Given the description of an element on the screen output the (x, y) to click on. 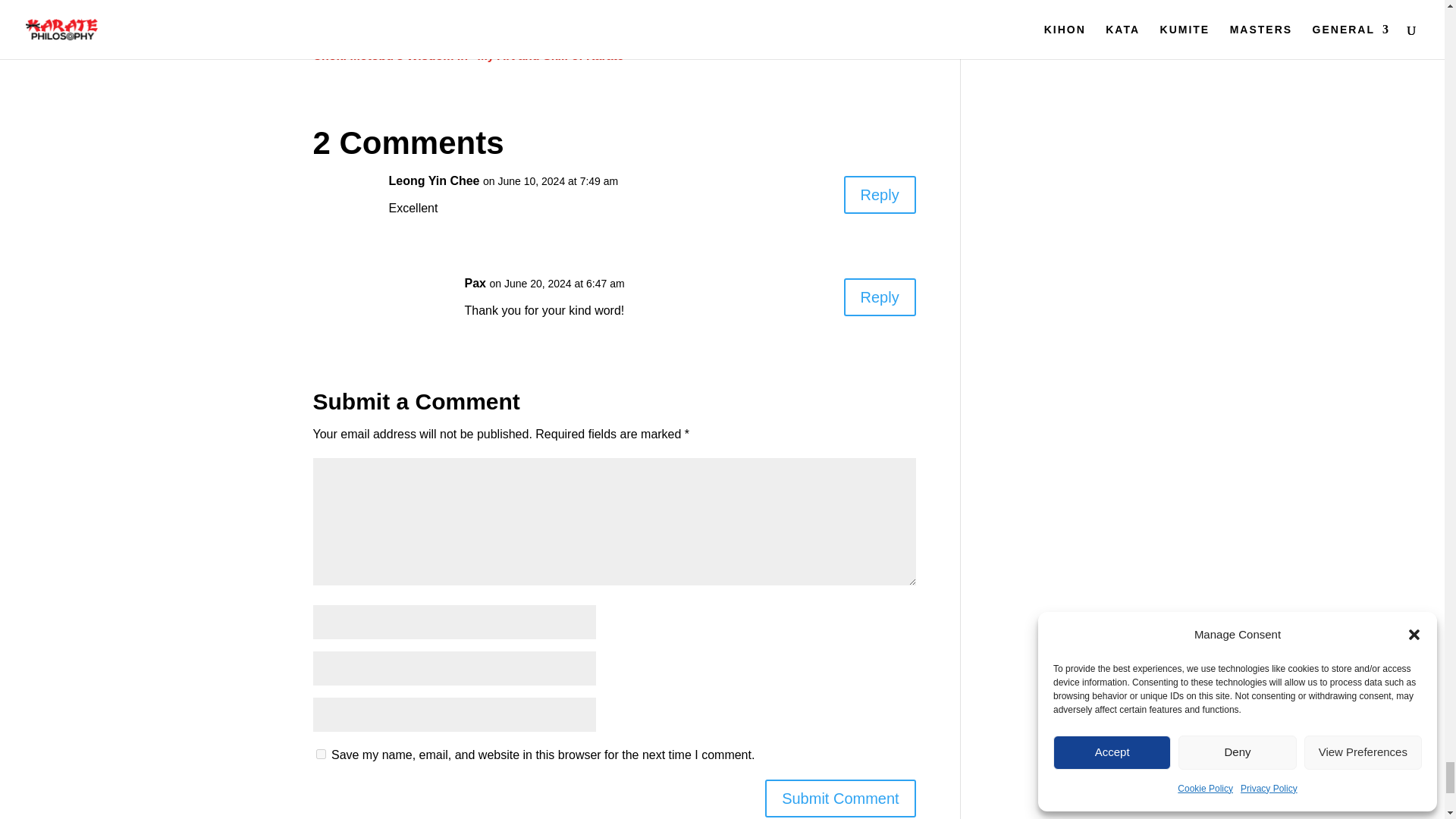
Submit Comment (840, 798)
yes (319, 754)
